Given the description of an element on the screen output the (x, y) to click on. 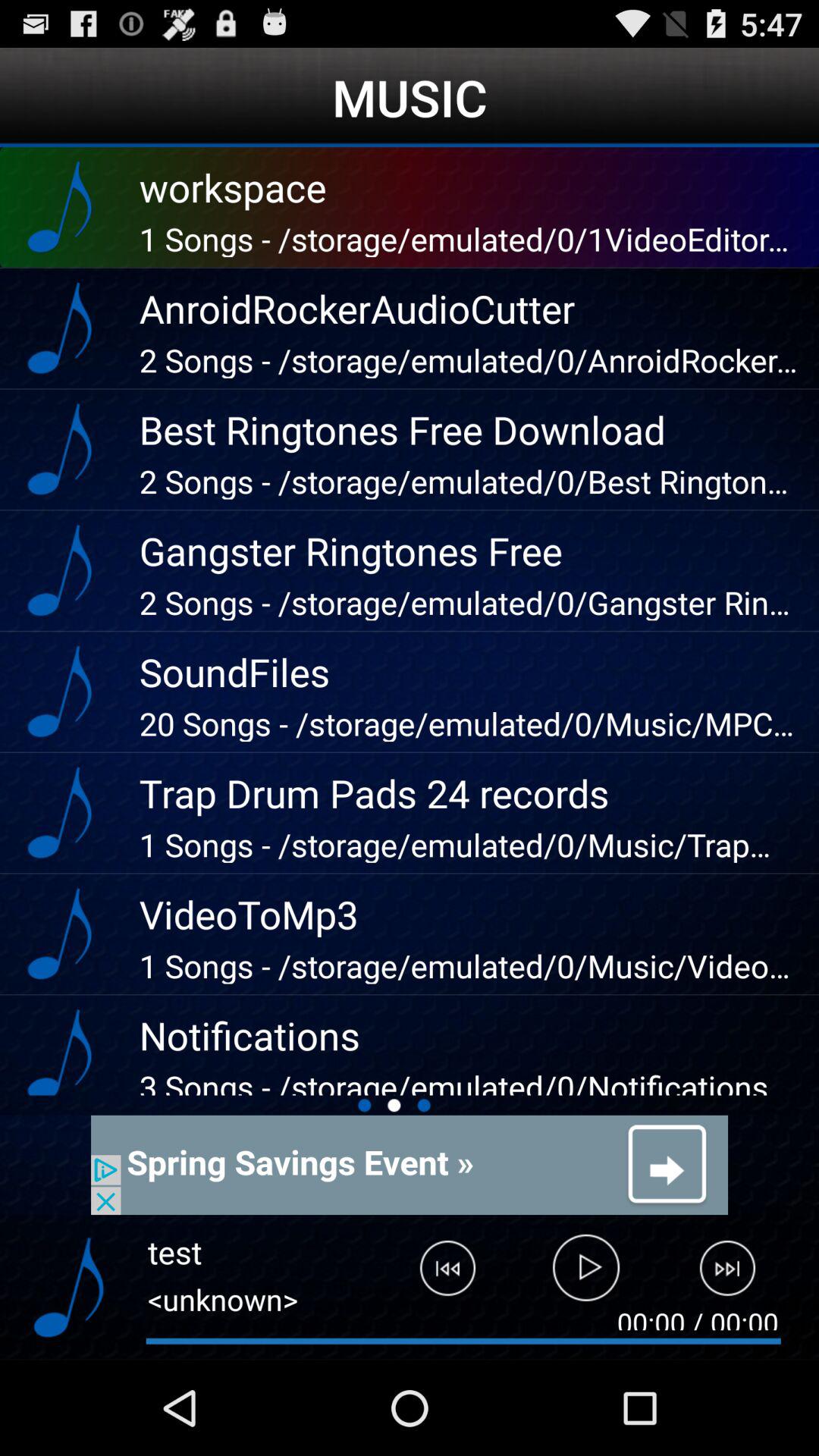
open advertisements (409, 1164)
